Given the description of an element on the screen output the (x, y) to click on. 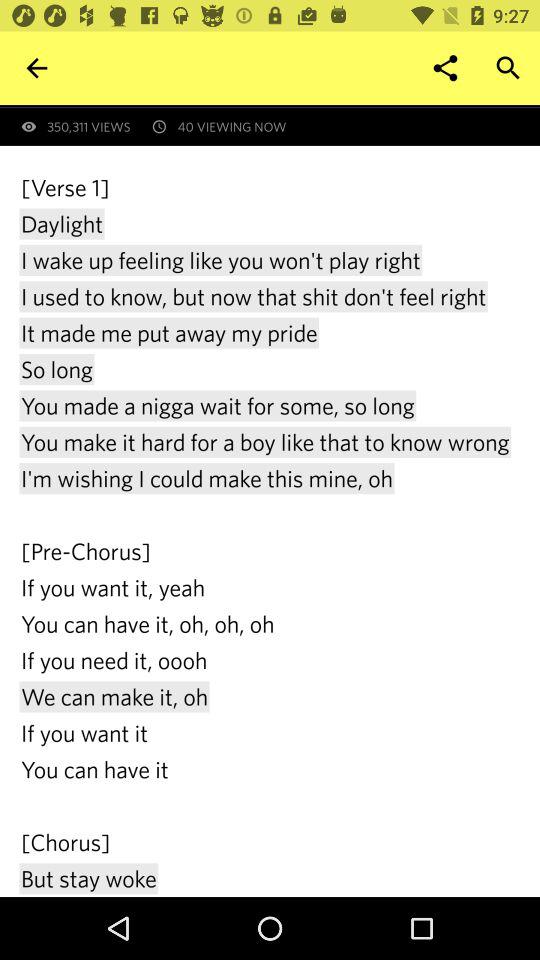
turn off verse 1 daylight at the center (270, 534)
